Given the description of an element on the screen output the (x, y) to click on. 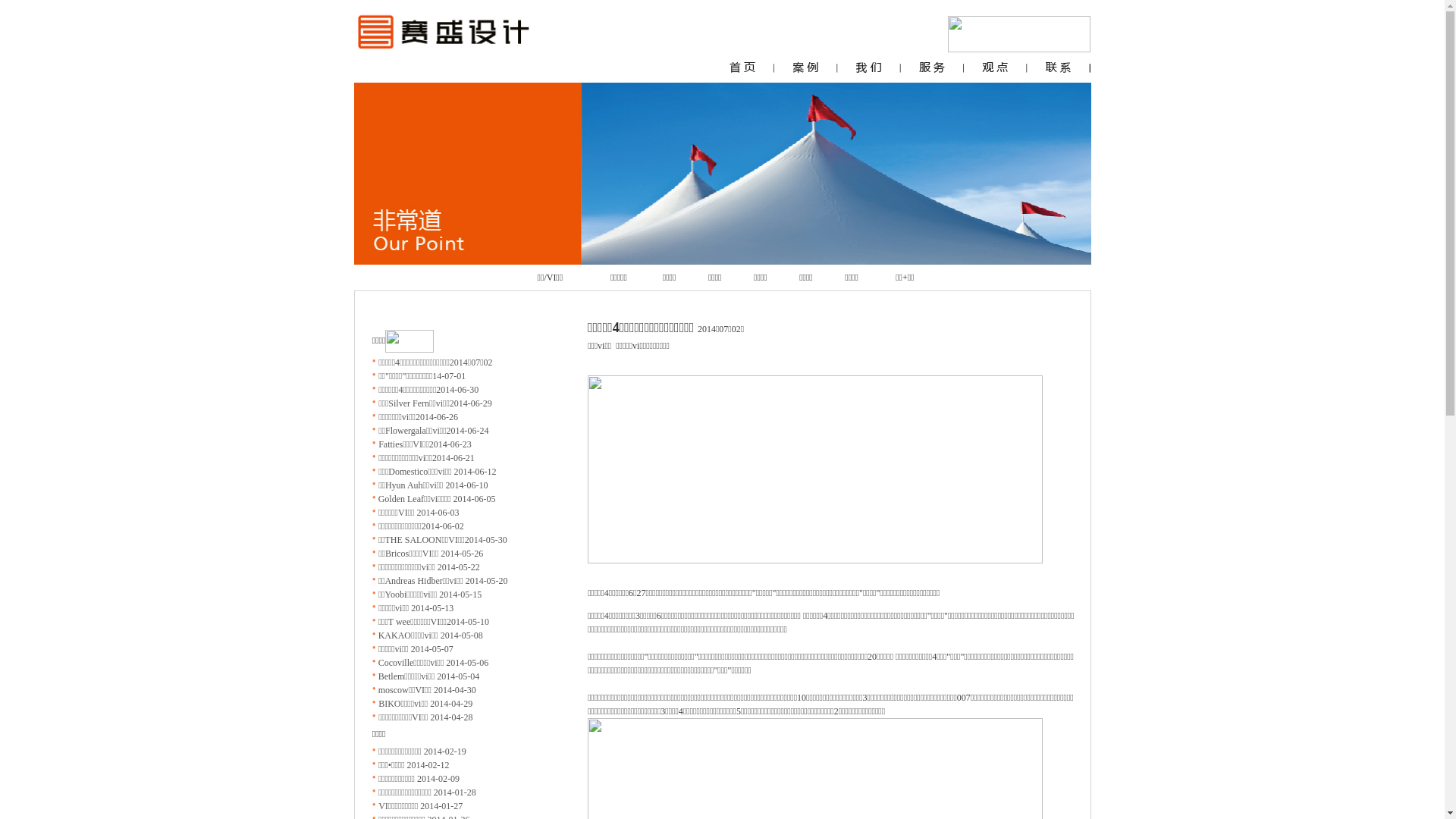
26 Element type: text (478, 553)
2014-04-28 Element type: text (449, 717)
2014-05-04 Element type: text (456, 676)
2014-05-06 Element type: text (465, 662)
2014-04-29 Element type: text (449, 703)
2014-06-23 Element type: text (450, 444)
